Given the description of an element on the screen output the (x, y) to click on. 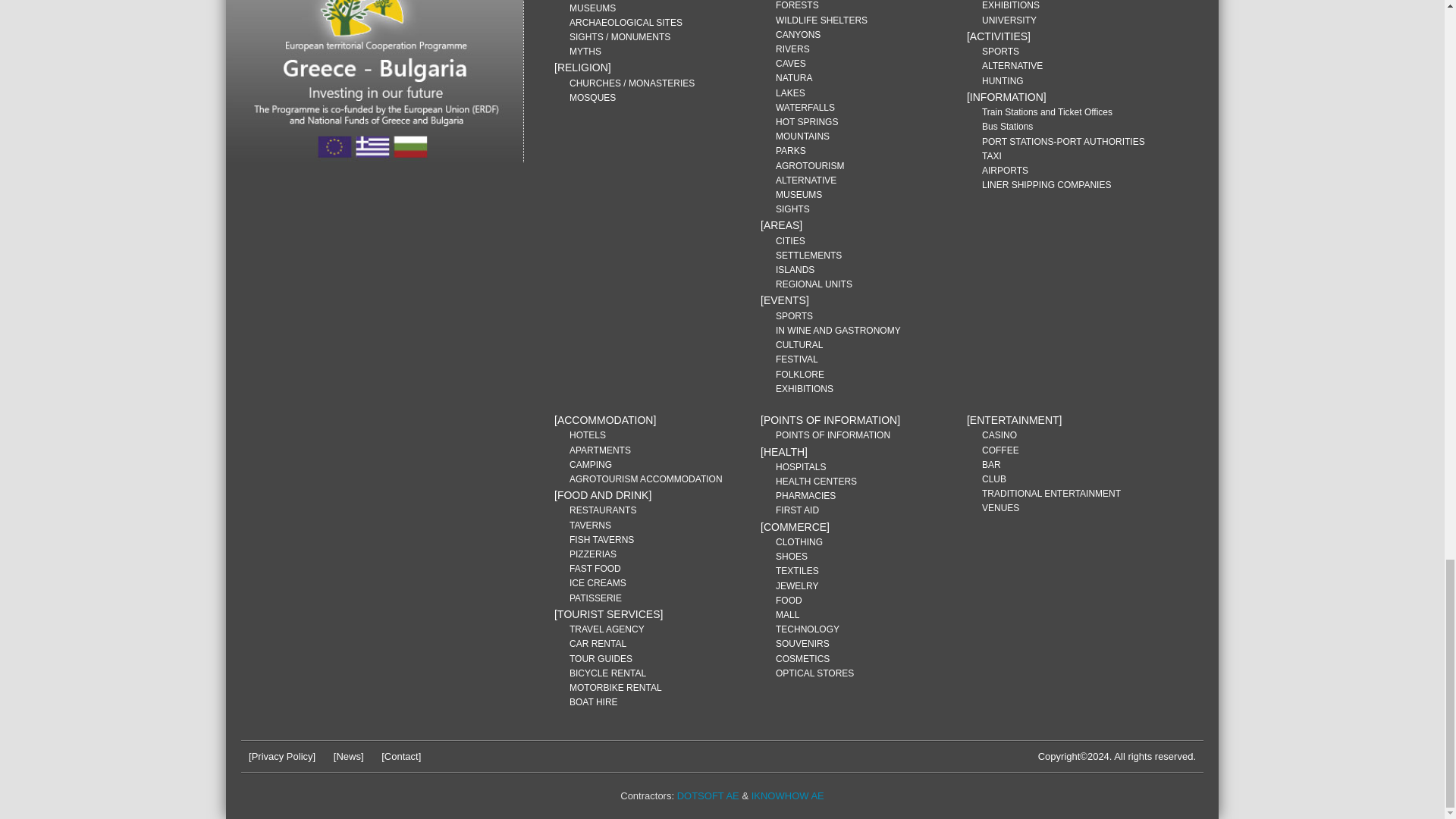
IKNOWHOW AE (787, 795)
DOTSOFT AE (708, 795)
